Given the description of an element on the screen output the (x, y) to click on. 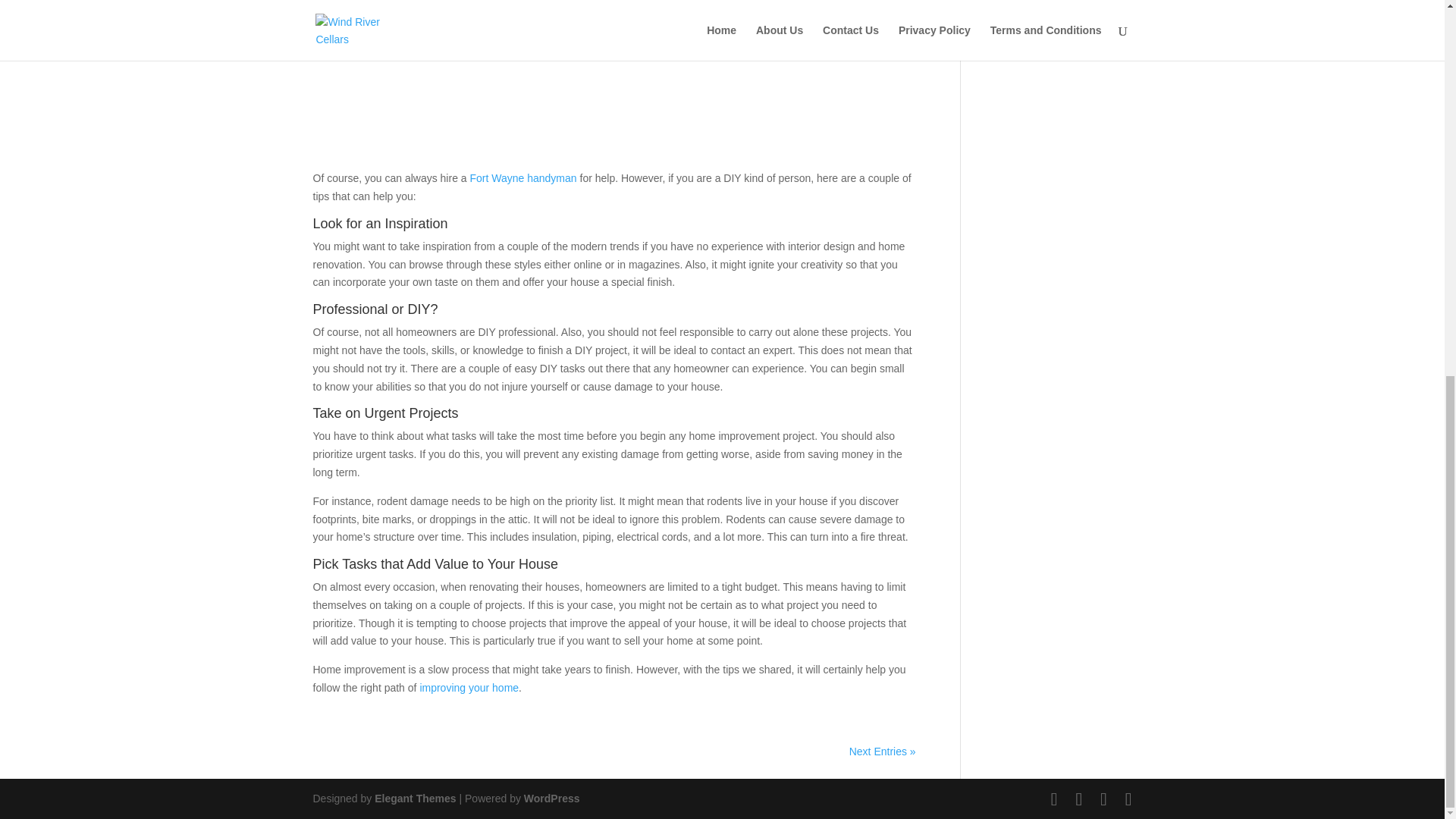
WordPress (551, 798)
Fort Wayne handyman (523, 177)
Premium WordPress Themes (414, 798)
improving your home (468, 687)
Elegant Themes (414, 798)
